Given the description of an element on the screen output the (x, y) to click on. 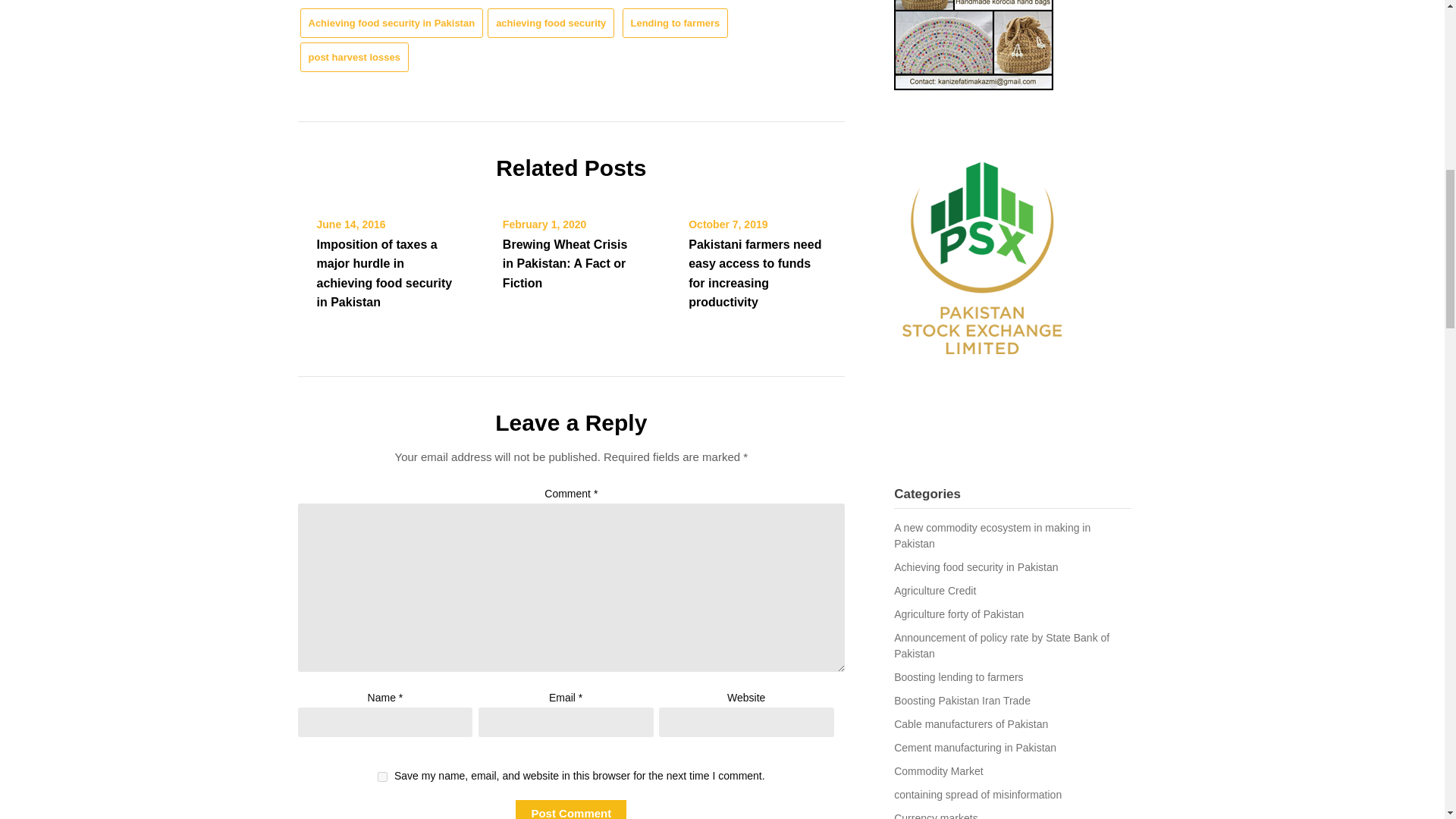
Cable manufacturers of Pakistan (970, 724)
achieving food security (550, 22)
Brewing Wheat Crisis in Pakistan: A Fact or Fiction (564, 263)
Cement manufacturing in Pakistan (975, 747)
Announcement of policy rate by State Bank of Pakistan (1001, 645)
Currency markets (934, 815)
Commodity Market (937, 770)
Agriculture Credit (934, 590)
Boosting Pakistan Iran Trade (961, 700)
